Given the description of an element on the screen output the (x, y) to click on. 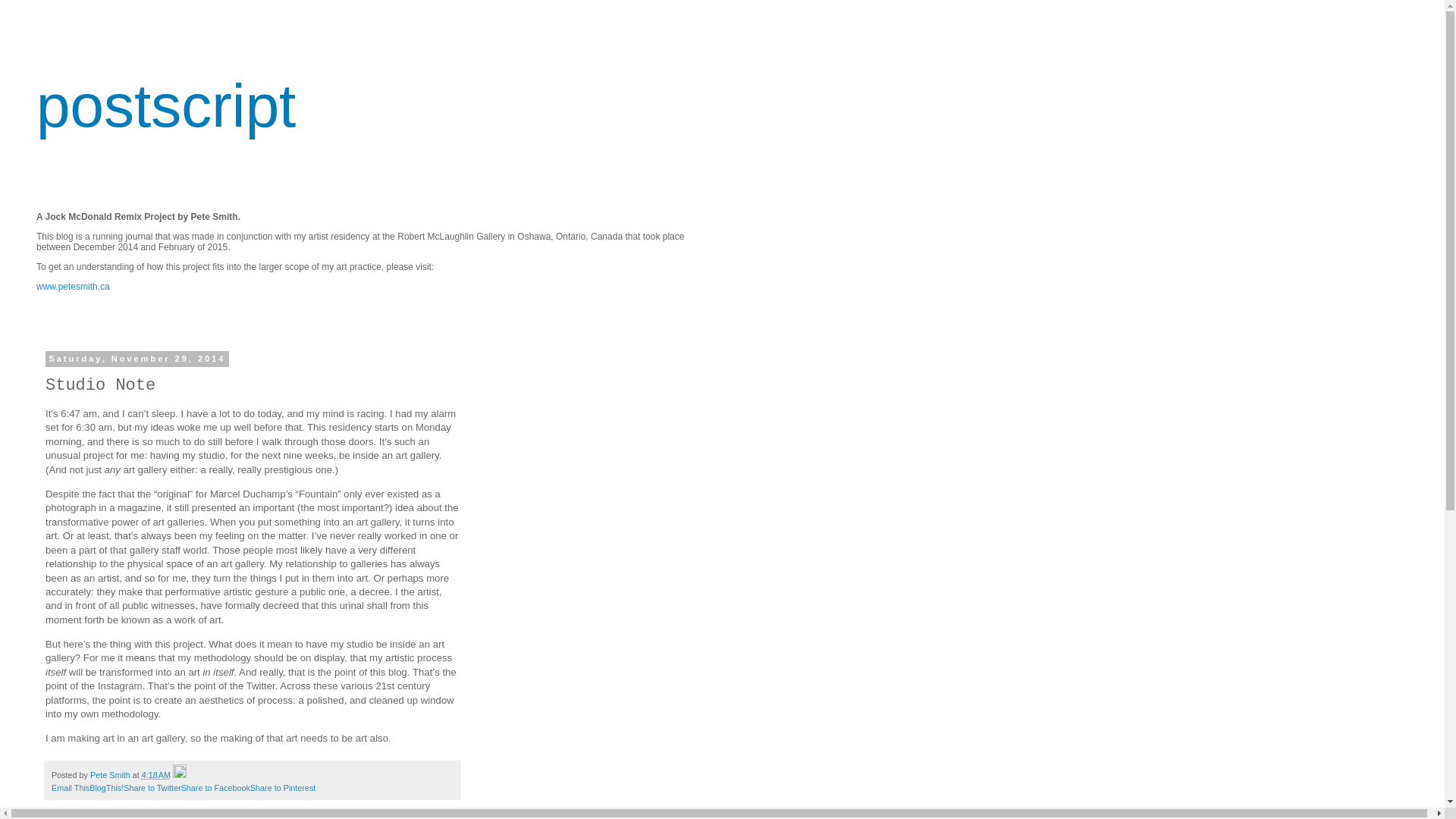
author profile (111, 774)
Share to Facebook (215, 787)
Share to Pinterest (282, 787)
www.petesmith.ca (73, 286)
Email This (69, 787)
BlogThis! (105, 787)
Share to Twitter (151, 787)
Pete Smith (111, 774)
postscript (165, 105)
BlogThis! (105, 787)
